Given the description of an element on the screen output the (x, y) to click on. 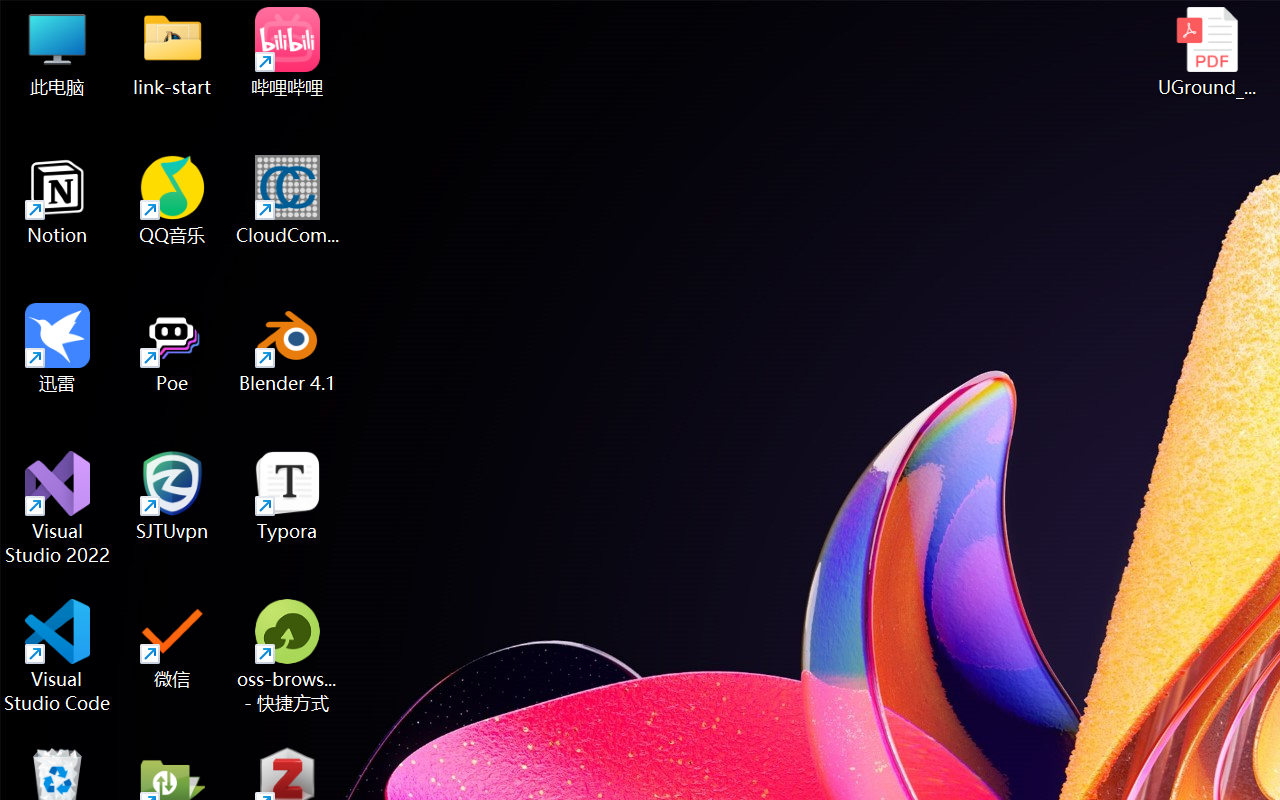
SJTUvpn (172, 496)
Visual Studio 2022 (57, 508)
Blender 4.1 (287, 348)
UGround_paper.pdf (1206, 52)
Typora (287, 496)
CloudCompare (287, 200)
Visual Studio Code (57, 656)
